Given the description of an element on the screen output the (x, y) to click on. 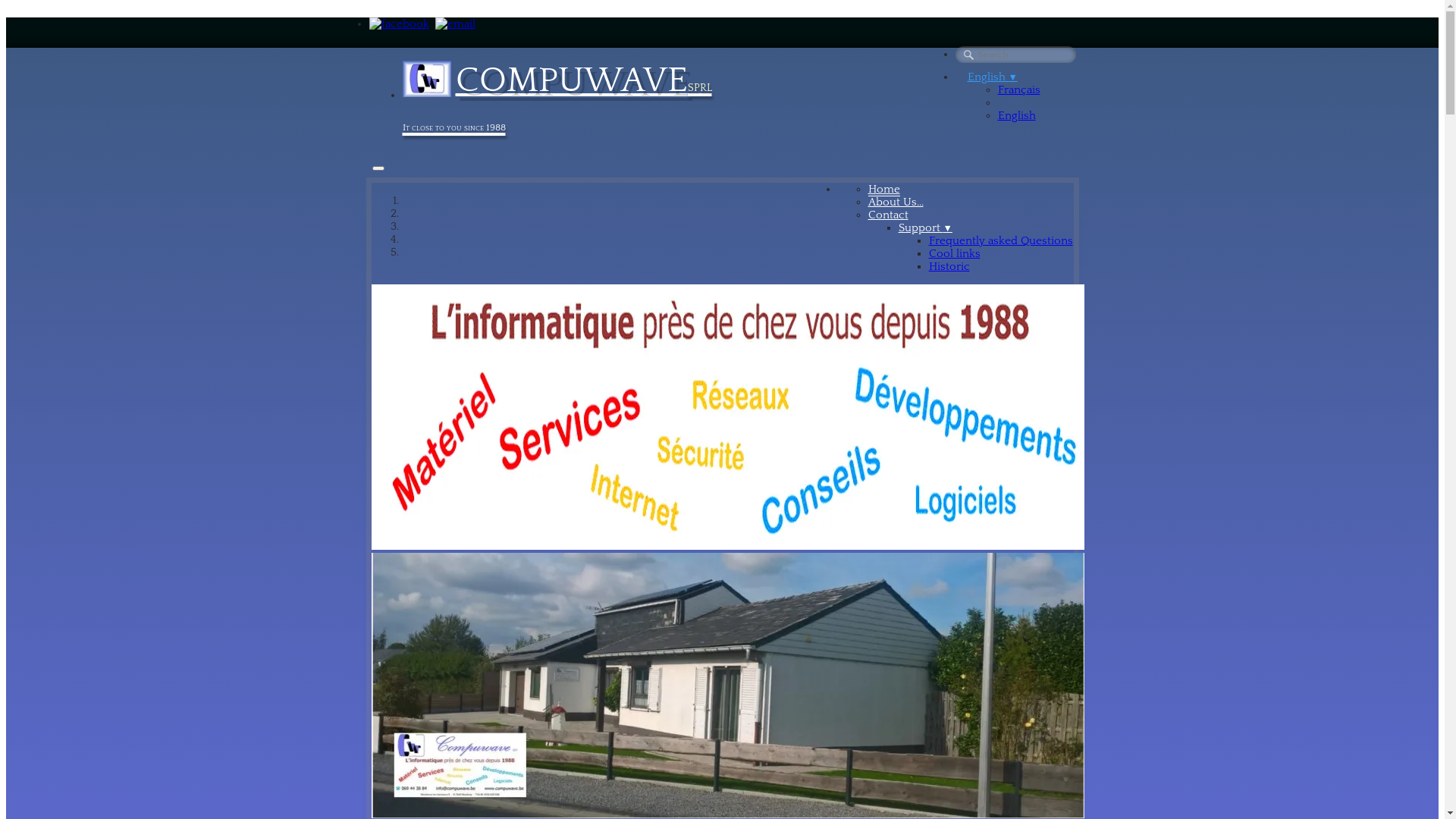
COMPUWAVEsprl
It close to you since 1988 Element type: text (556, 93)
English Element type: text (1016, 115)
Cool links Element type: text (953, 253)
Frequently asked Questions Element type: text (1000, 240)
About Us... Element type: text (894, 201)
Historic Element type: text (948, 266)
Home Element type: text (883, 189)
Contact Element type: text (887, 214)
